Given the description of an element on the screen output the (x, y) to click on. 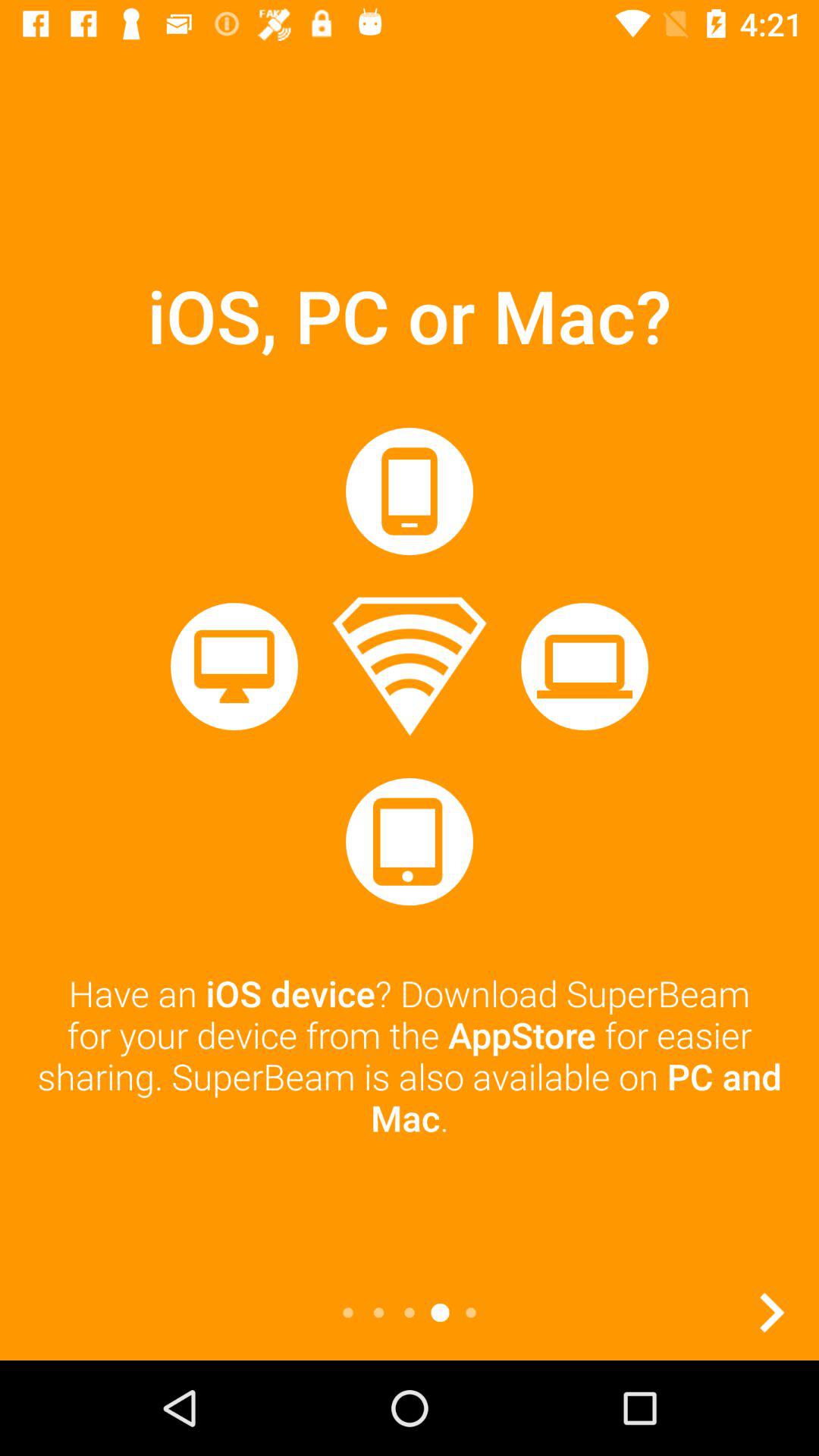
next page arrow (771, 1312)
